Given the description of an element on the screen output the (x, y) to click on. 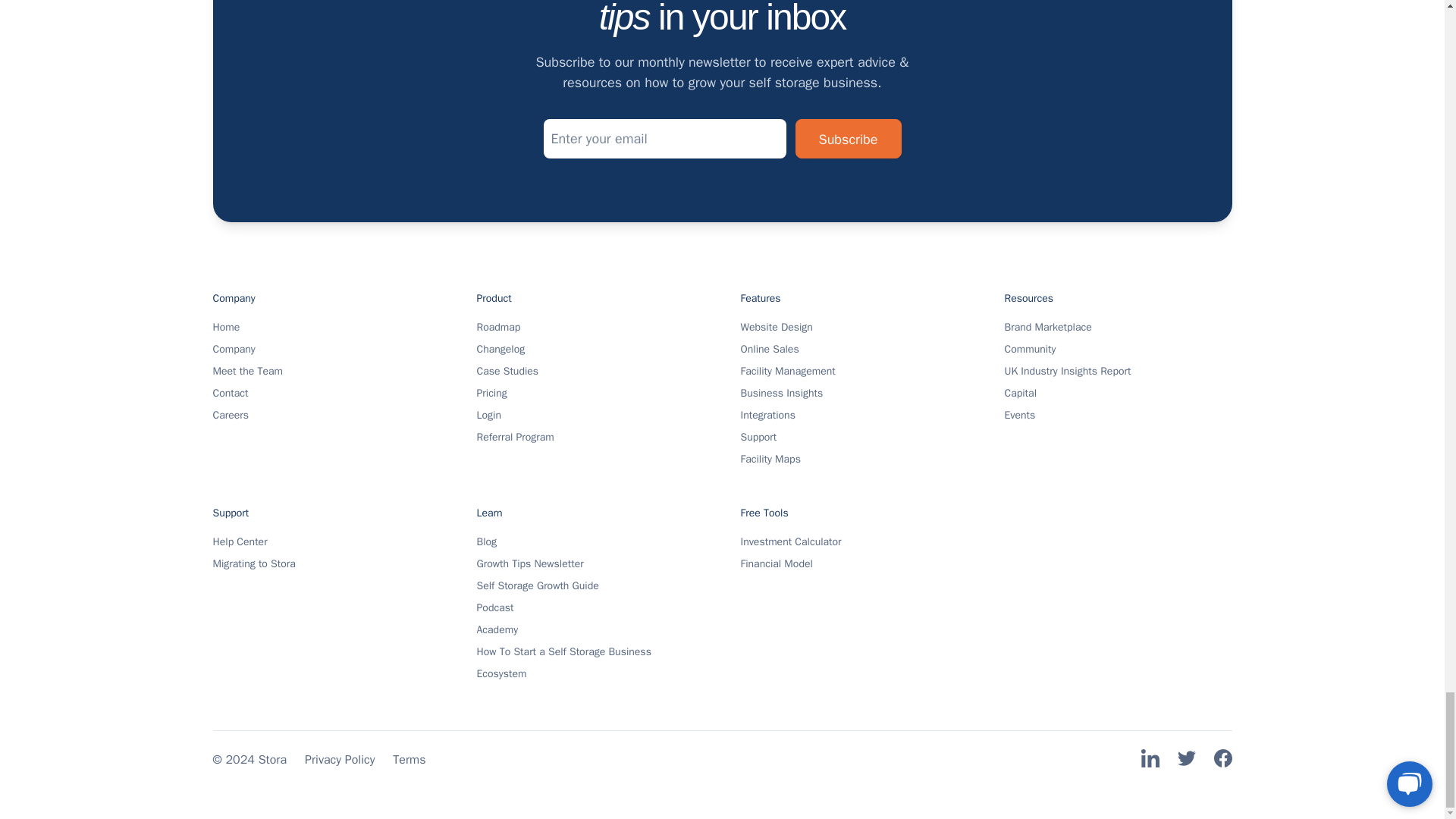
Subscribe (847, 138)
